Given the description of an element on the screen output the (x, y) to click on. 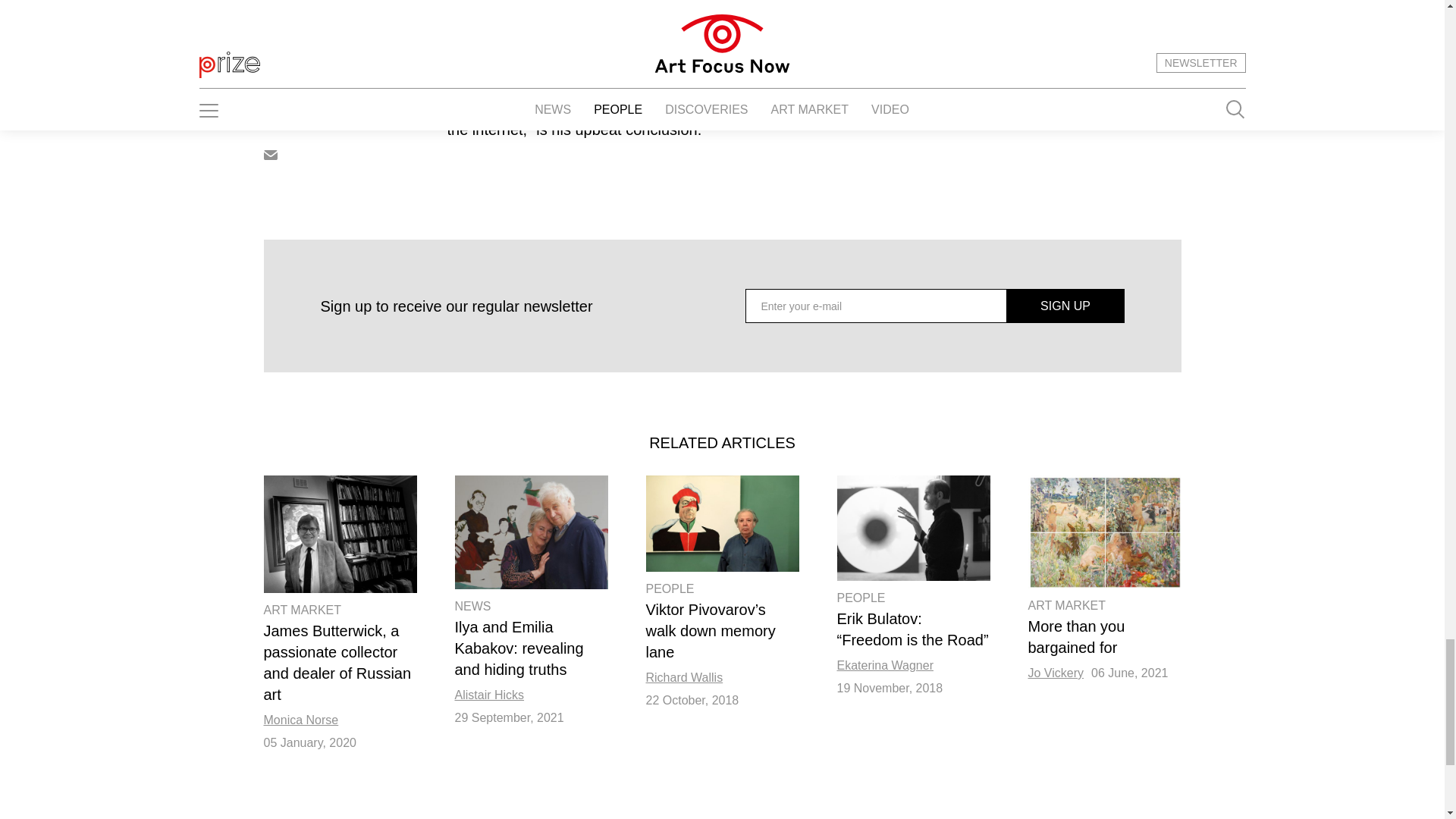
SIGN UP (1065, 305)
ART MARKET (302, 609)
SIGN UP (1065, 305)
More than you bargained for (1103, 531)
Ilya and Emilia Kabakov: revealing and hiding truths (531, 531)
